Given the description of an element on the screen output the (x, y) to click on. 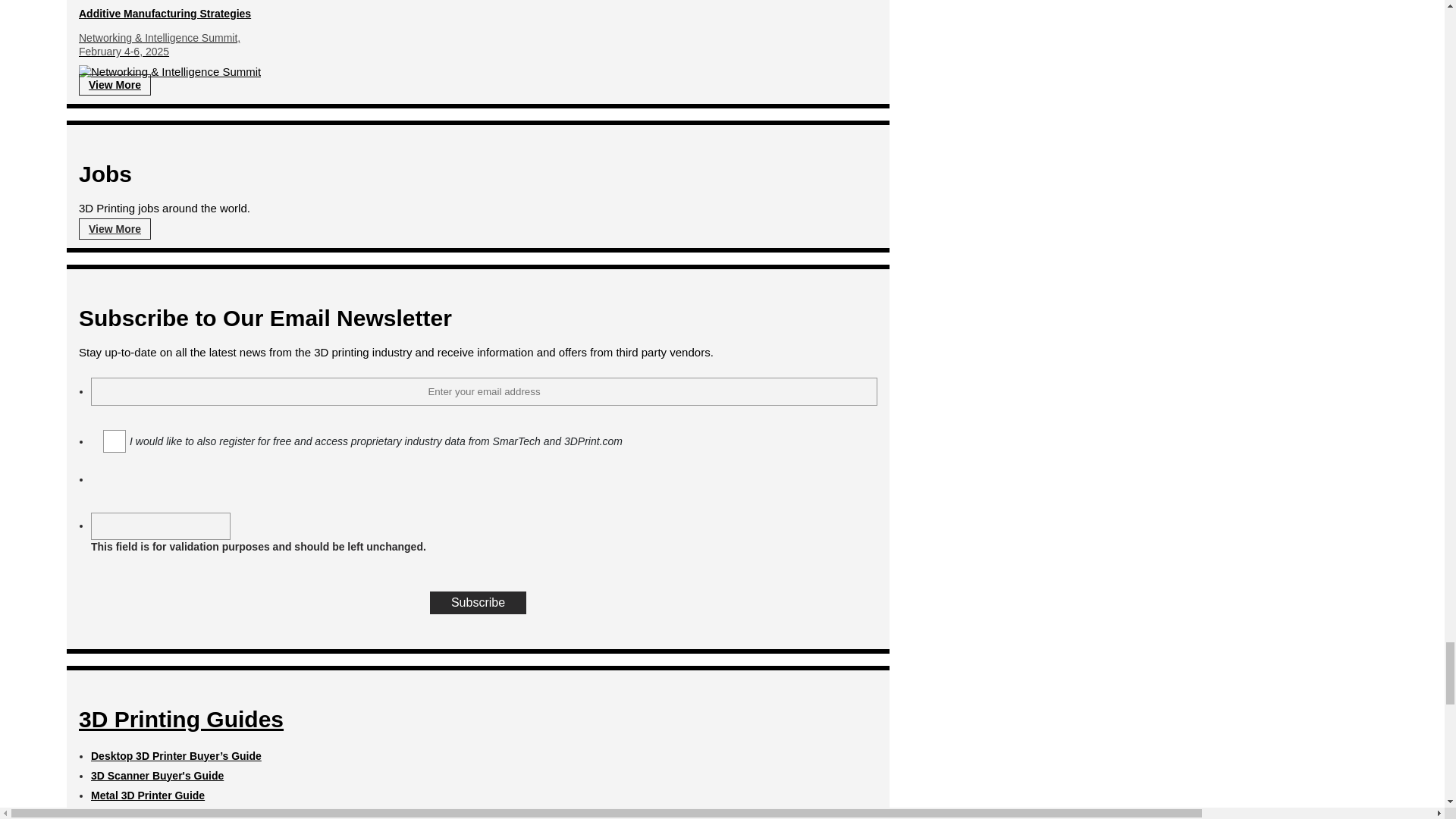
Subscribe (477, 602)
